Given the description of an element on the screen output the (x, y) to click on. 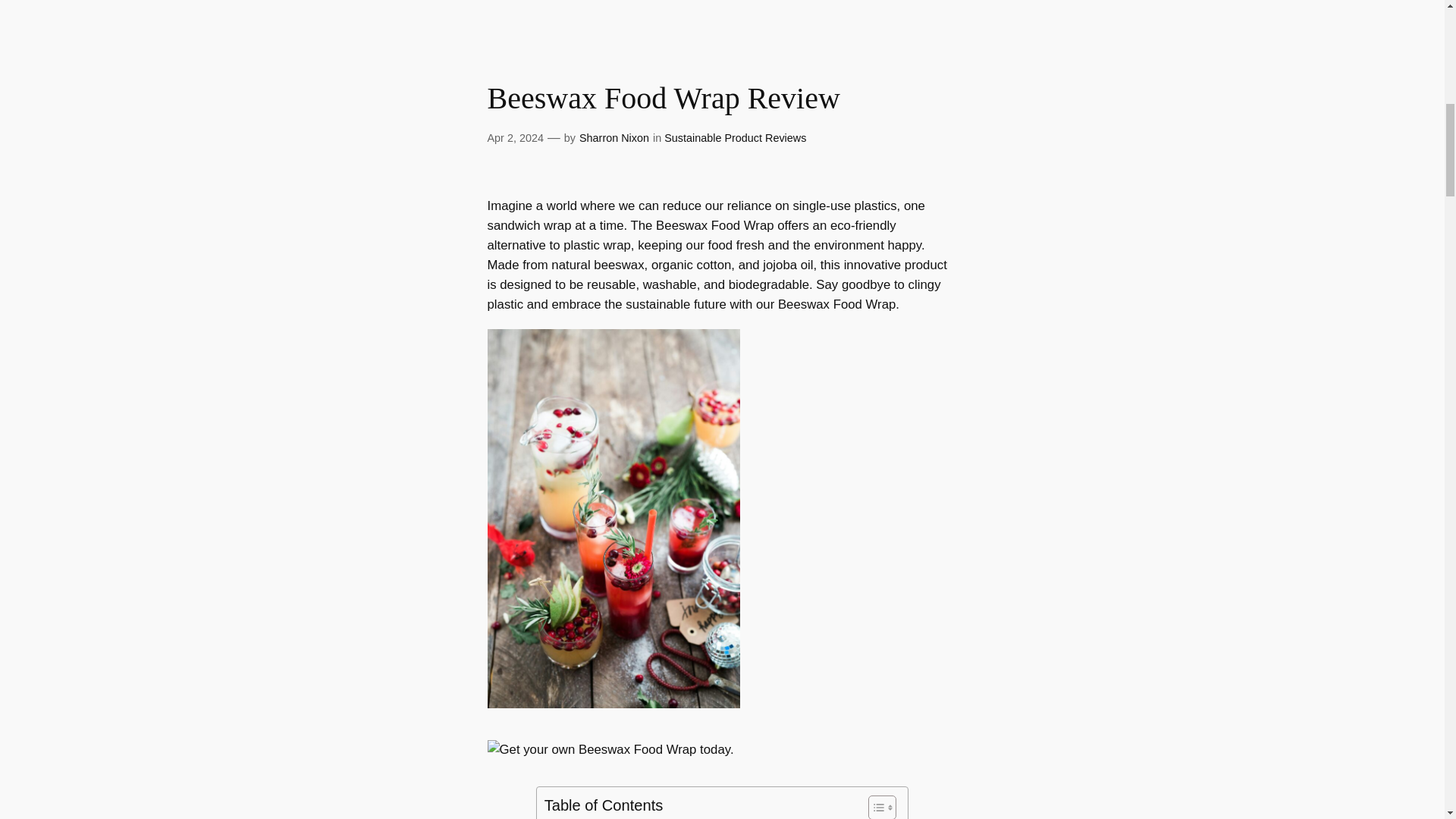
Sharron Nixon (614, 137)
Get your own Beeswax Food Wrap today. (609, 750)
Apr 2, 2024 (514, 137)
Beeswax Food Wrap (612, 703)
Sustainable Product Reviews (734, 137)
Get your own Beeswax Food Wrap today. (609, 749)
